Given the description of an element on the screen output the (x, y) to click on. 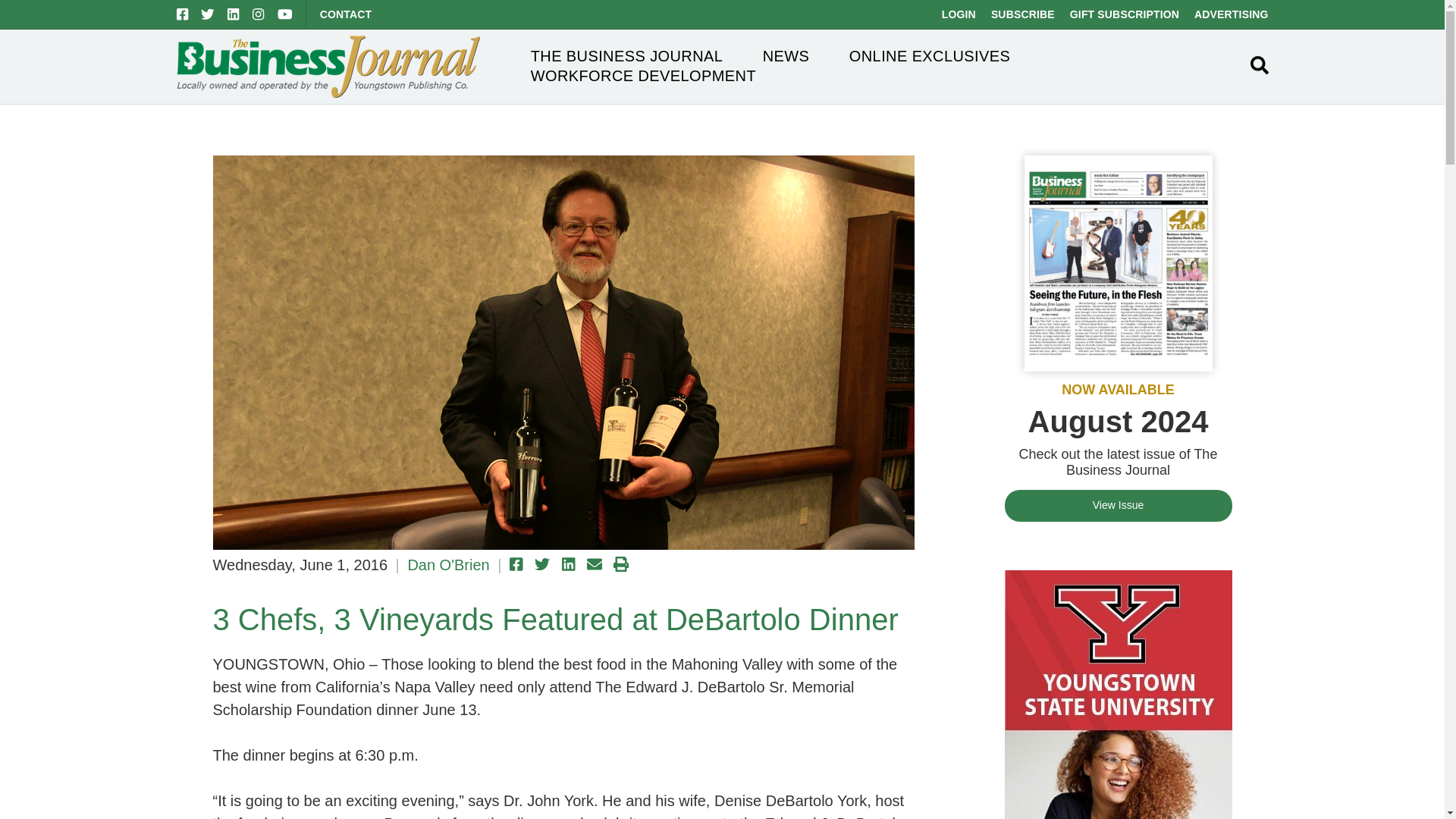
TWITTER (207, 14)
CONTACT (346, 14)
THE BUSINESS JOURNAL (627, 55)
ADVERTISING (1230, 14)
NEWS (785, 55)
LOGIN (958, 14)
TWITTER (207, 13)
YOUTUBE (285, 13)
YOUTUBE (285, 14)
Share on Twitter (542, 563)
